Given the description of an element on the screen output the (x, y) to click on. 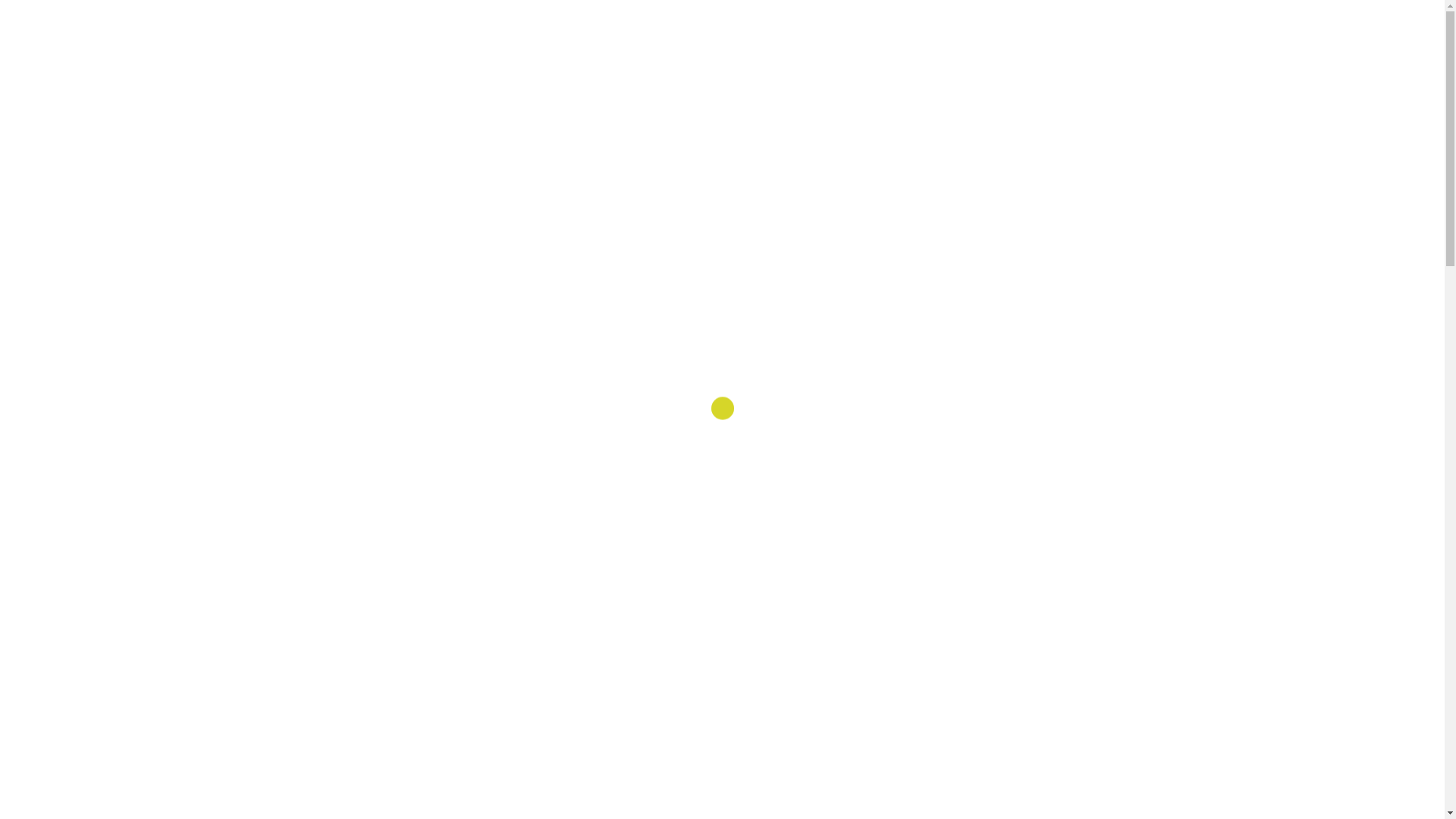
Contact Element type: text (756, 87)
Skip to content Element type: text (0, 0)
Soumettre Element type: text (672, 87)
3REG Element type: hover (722, 39)
